Given the description of an element on the screen output the (x, y) to click on. 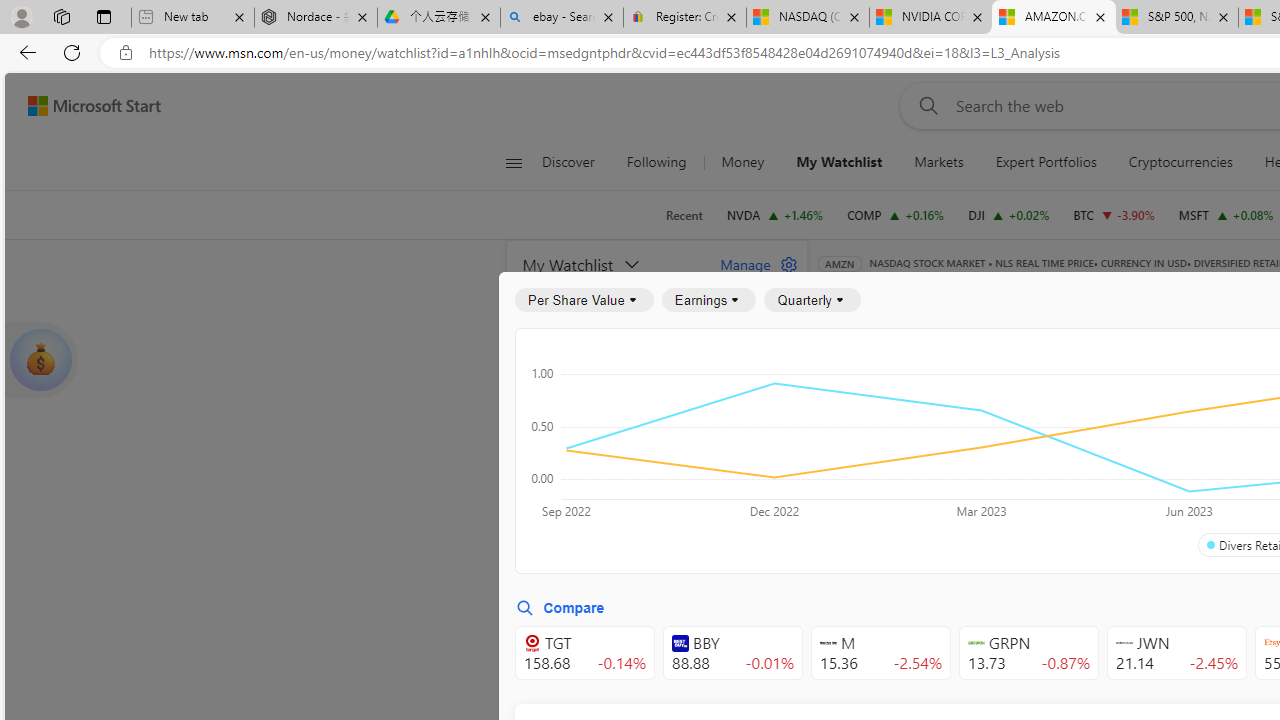
Cryptocurrencies (1180, 162)
DJI DOW increase 41,250.50 +9.98 +0.02% (1009, 214)
Per Share Value (584, 300)
Quarterly (812, 300)
Compare (559, 608)
